Given the description of an element on the screen output the (x, y) to click on. 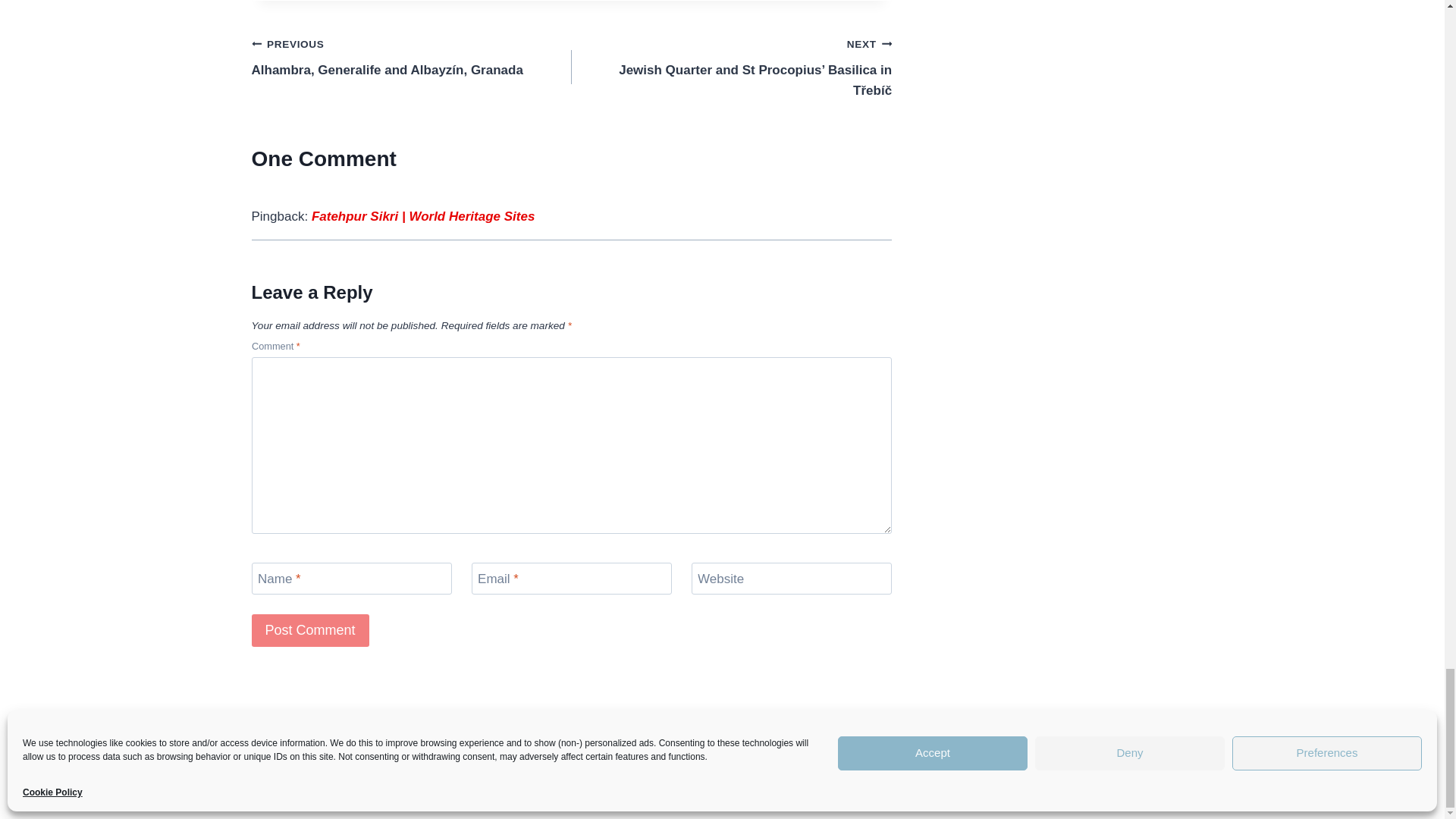
Post Comment (310, 630)
